Given the description of an element on the screen output the (x, y) to click on. 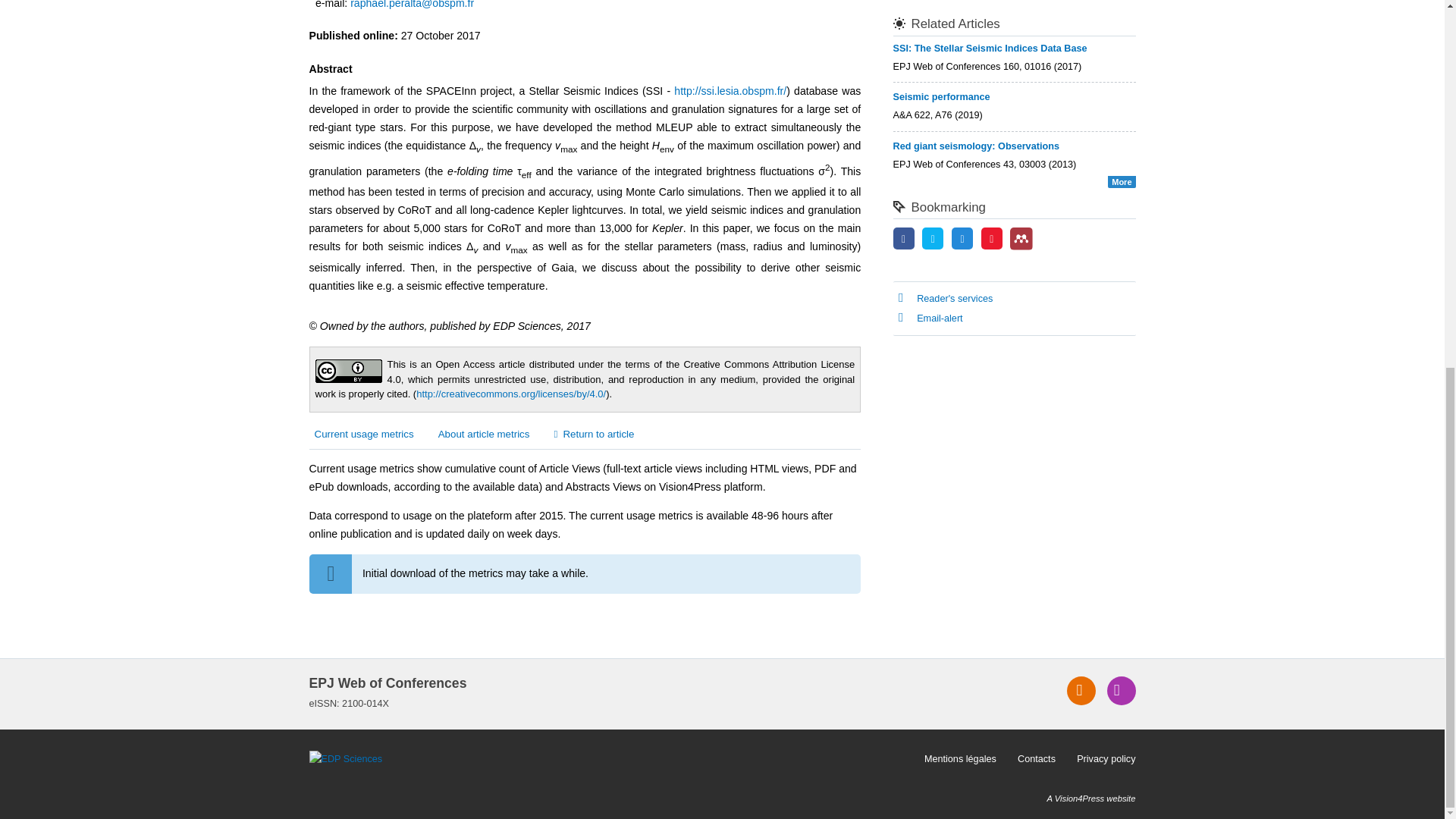
Mendeley (1021, 238)
